Given the description of an element on the screen output the (x, y) to click on. 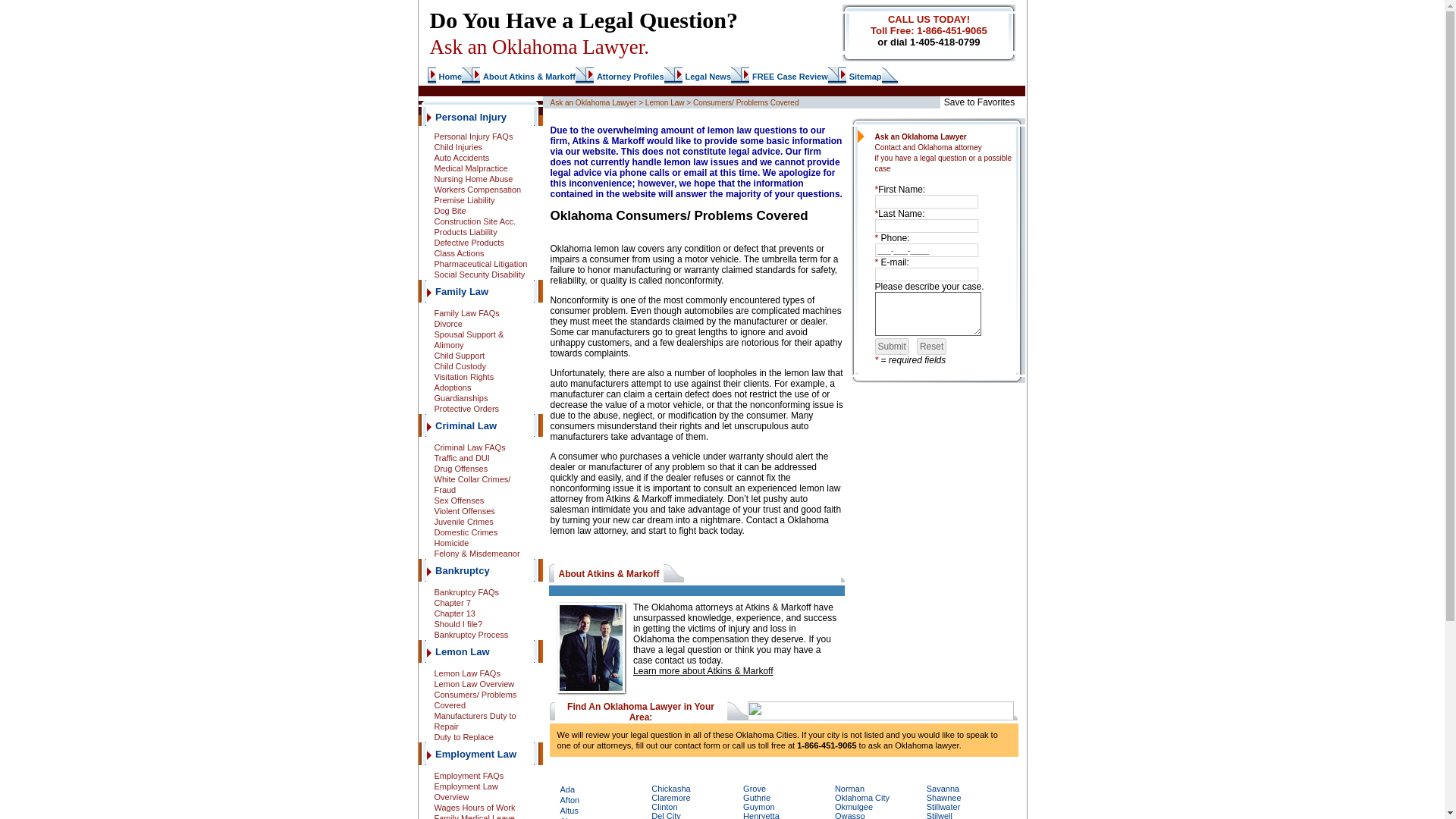
Products Liability (466, 231)
Child Injuries (458, 146)
Class Actions (459, 252)
Sex Offenses (459, 500)
 Personal Injury (469, 116)
Attorney Profiles (628, 71)
Dog Bite (450, 210)
Protective Orders (467, 408)
Premise Liability (465, 199)
Nursing Home Abuse (474, 178)
